Given the description of an element on the screen output the (x, y) to click on. 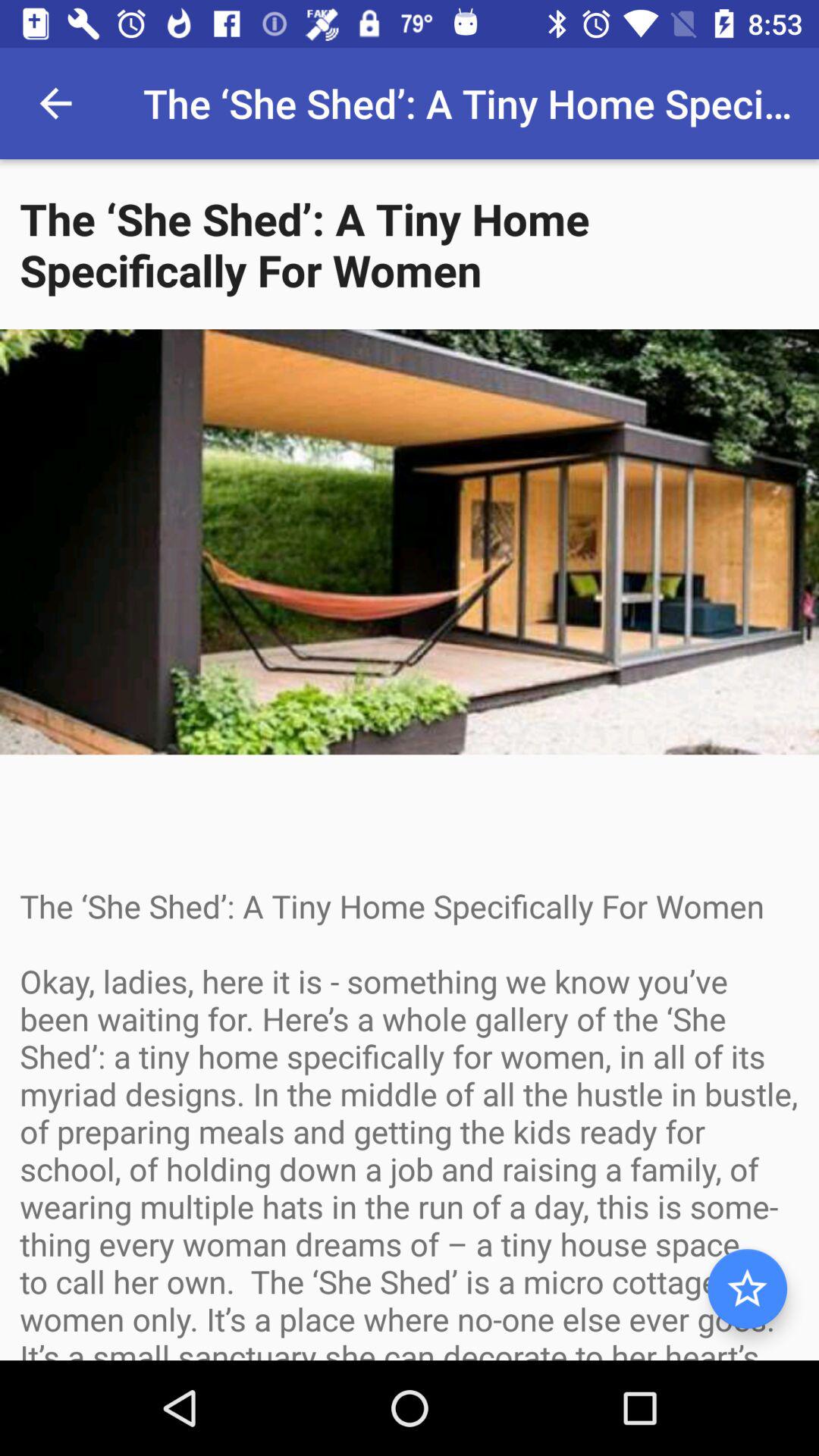
select the icon next to the the she shed (55, 103)
